Given the description of an element on the screen output the (x, y) to click on. 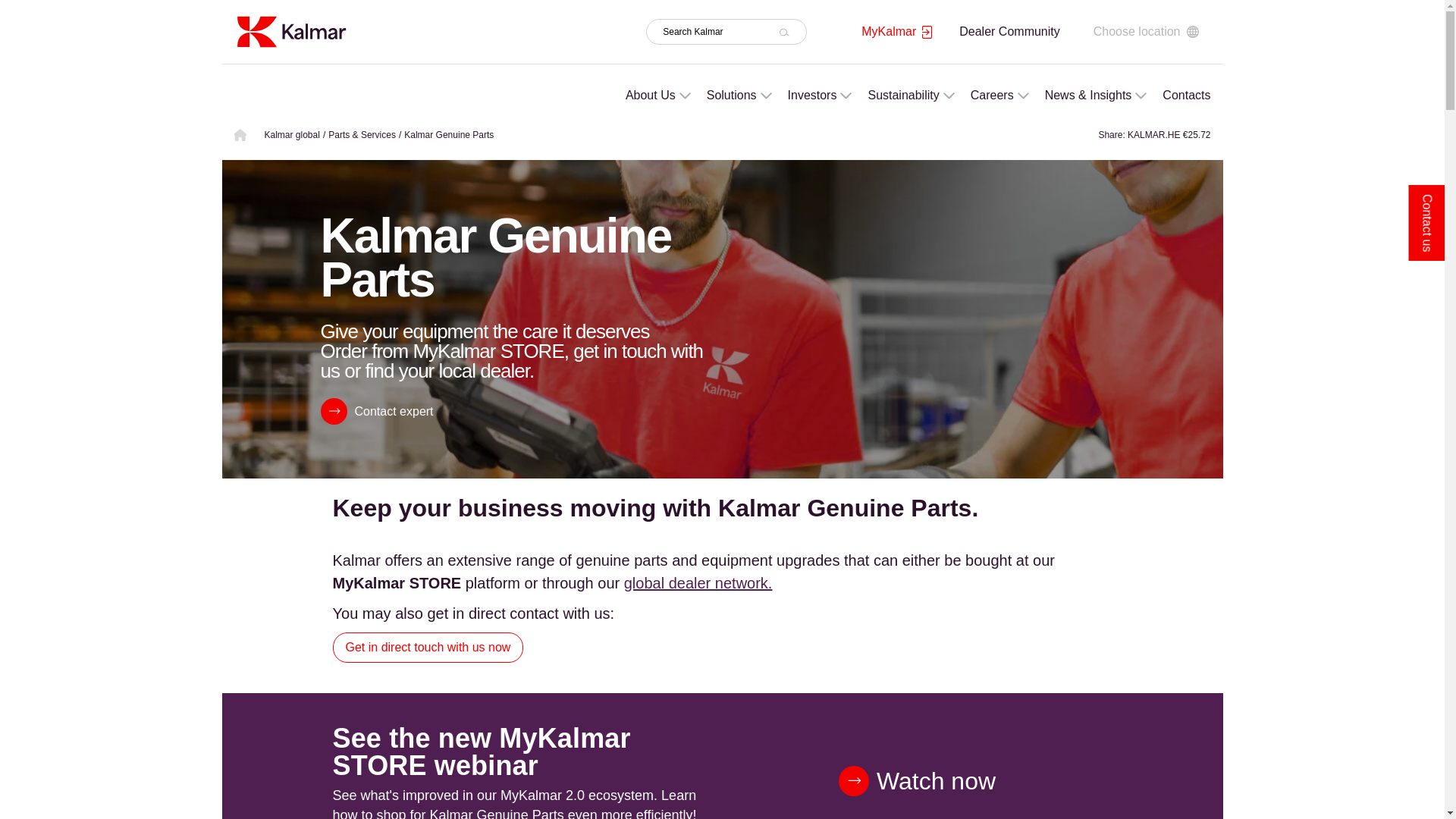
Dealer Community (1009, 31)
MyKalmar (896, 31)
Kalmar logo (289, 31)
Kalmar global (290, 134)
Home (289, 30)
Contact expert (376, 411)
